Given the description of an element on the screen output the (x, y) to click on. 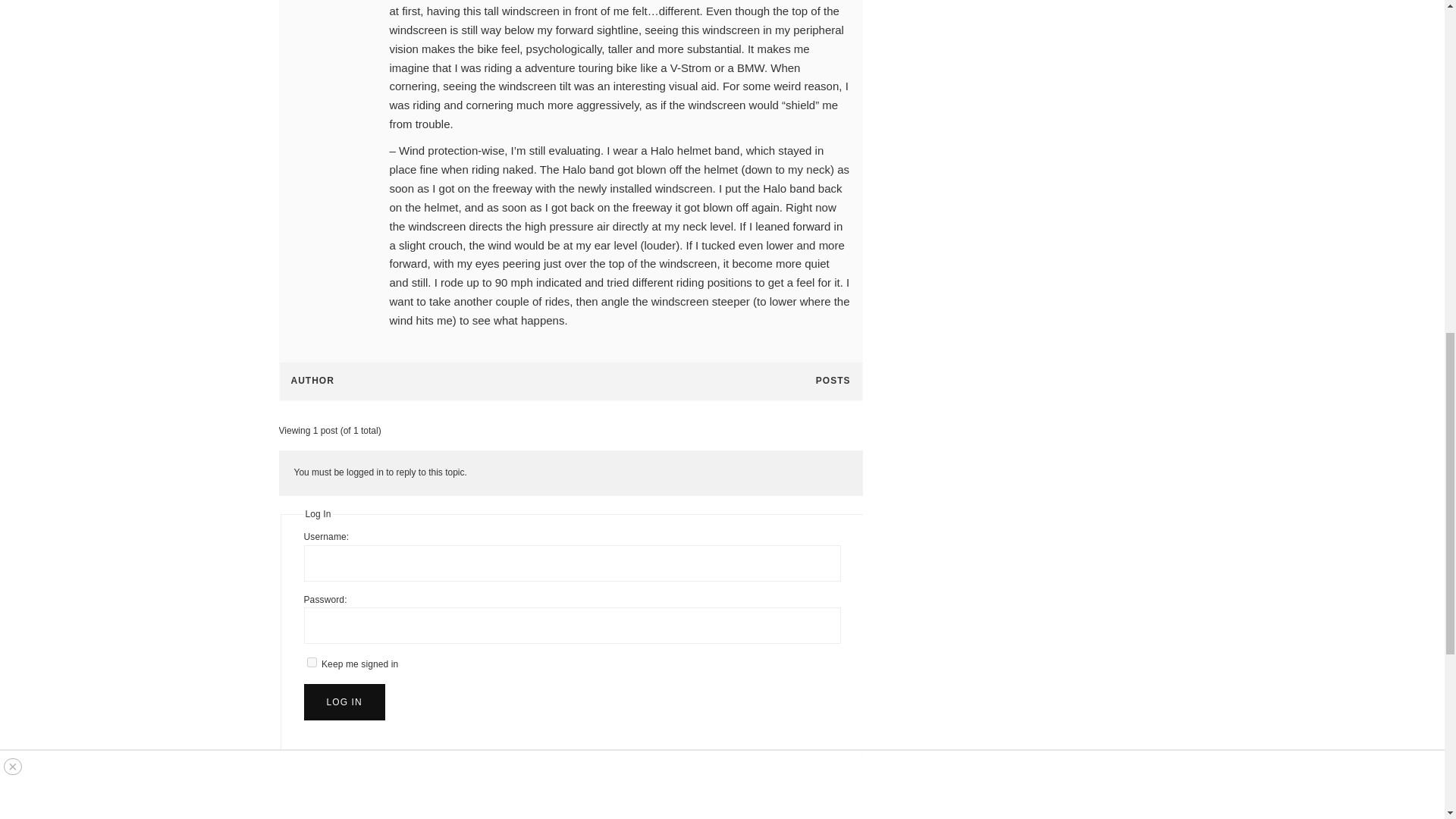
forever (310, 662)
Advertisement (1024, 117)
